Given the description of an element on the screen output the (x, y) to click on. 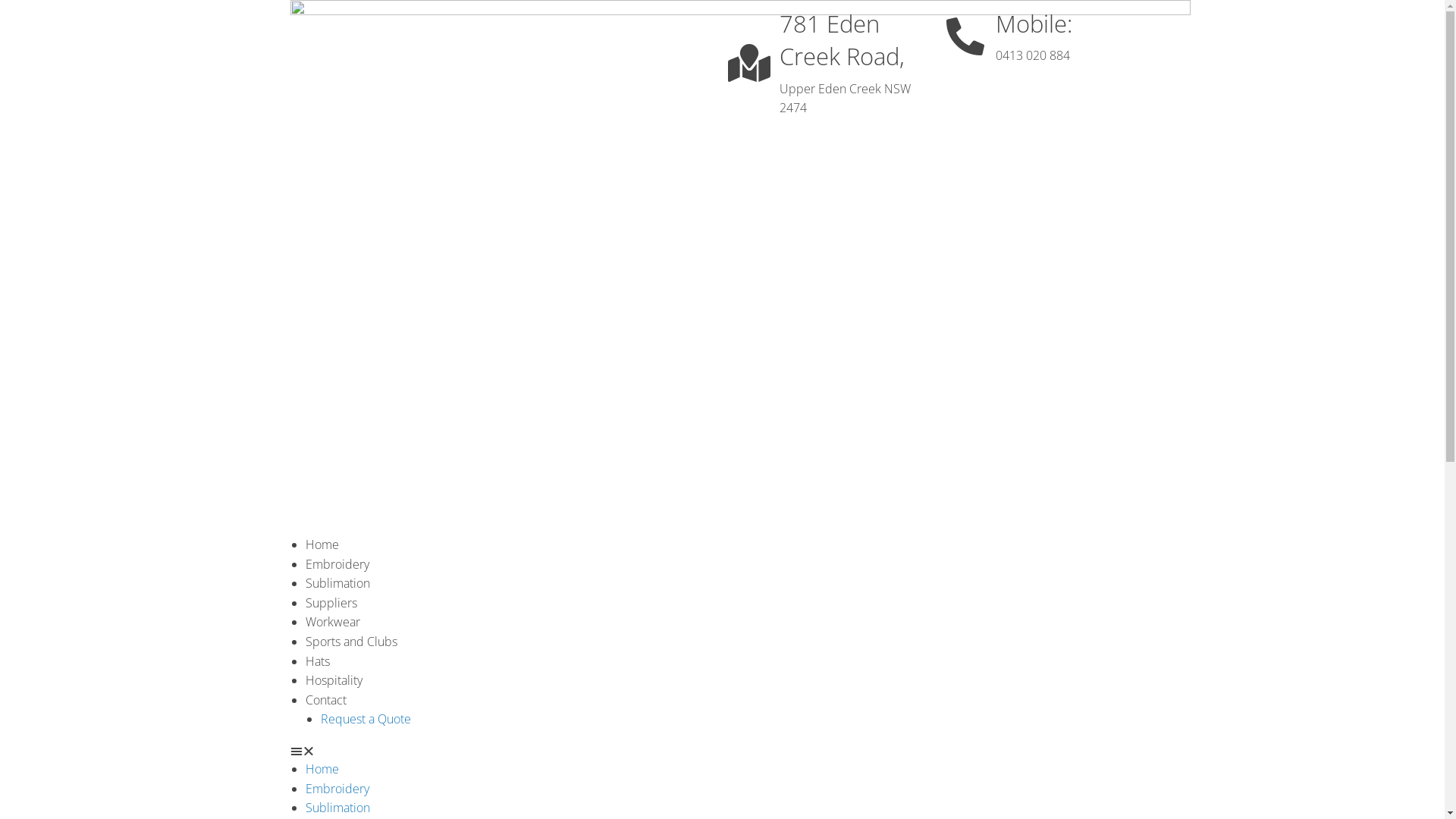
Home Element type: text (321, 768)
Suppliers Element type: text (330, 602)
Request a Quote Element type: text (365, 718)
Sports and Clubs Element type: text (350, 641)
Contact Element type: text (324, 699)
Hats Element type: text (316, 660)
Sublimation Element type: text (336, 807)
Embroidery Element type: text (336, 563)
Workwear Element type: text (331, 621)
Sublimation Element type: text (336, 582)
Hospitality Element type: text (332, 679)
Home Element type: text (321, 544)
Embroidery Element type: text (336, 788)
